Given the description of an element on the screen output the (x, y) to click on. 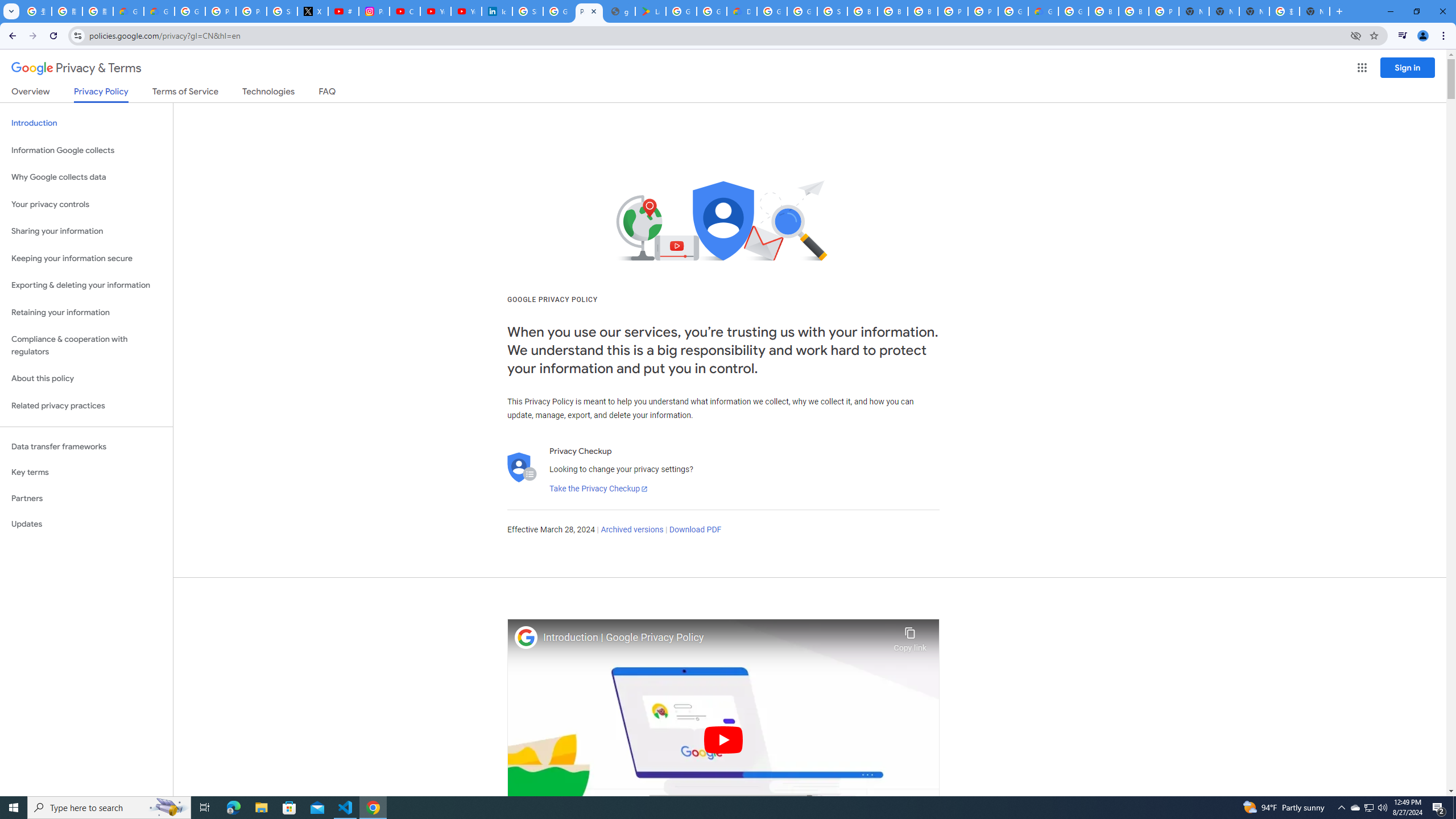
Photo image of Google (526, 636)
Information Google collects (86, 150)
New Tab (1314, 11)
Privacy Help Center - Policies Help (220, 11)
About this policy (86, 379)
Retaining your information (86, 312)
YouTube Culture & Trends - YouTube Top 10, 2021 (465, 11)
